Given the description of an element on the screen output the (x, y) to click on. 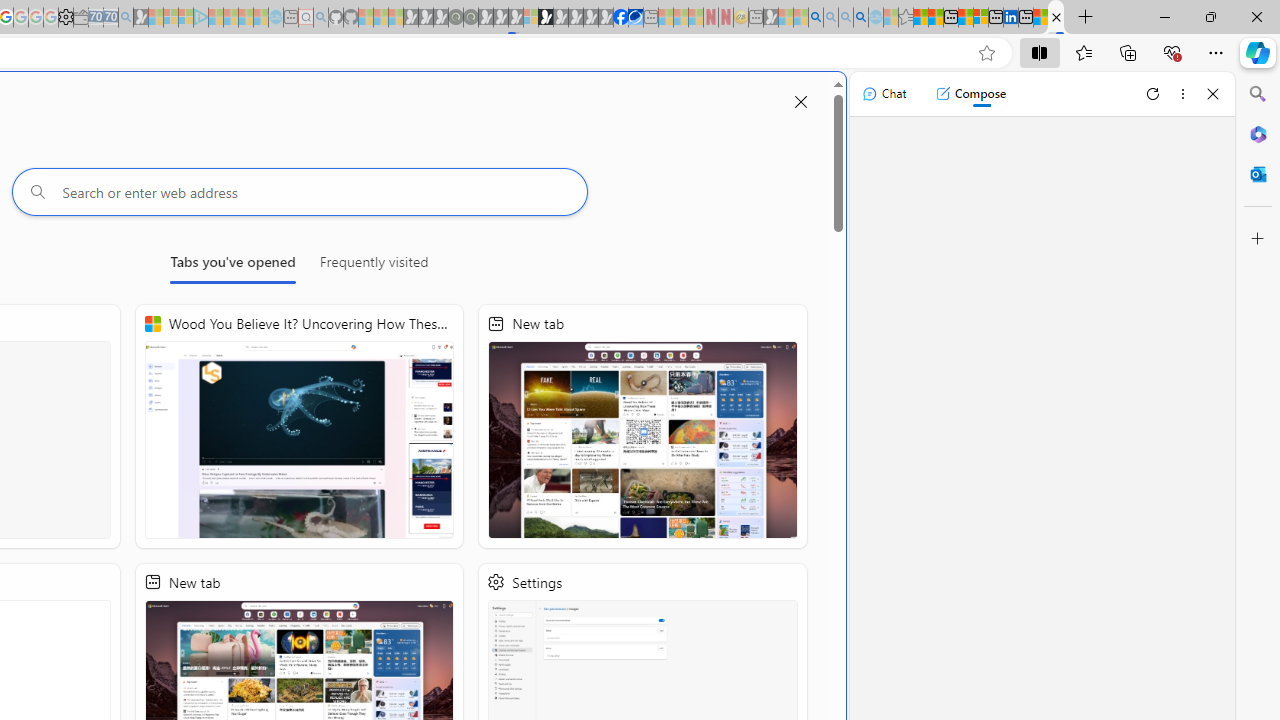
MSN - Sleeping (771, 17)
Future Focus Report 2024 - Sleeping (470, 17)
